Given the description of an element on the screen output the (x, y) to click on. 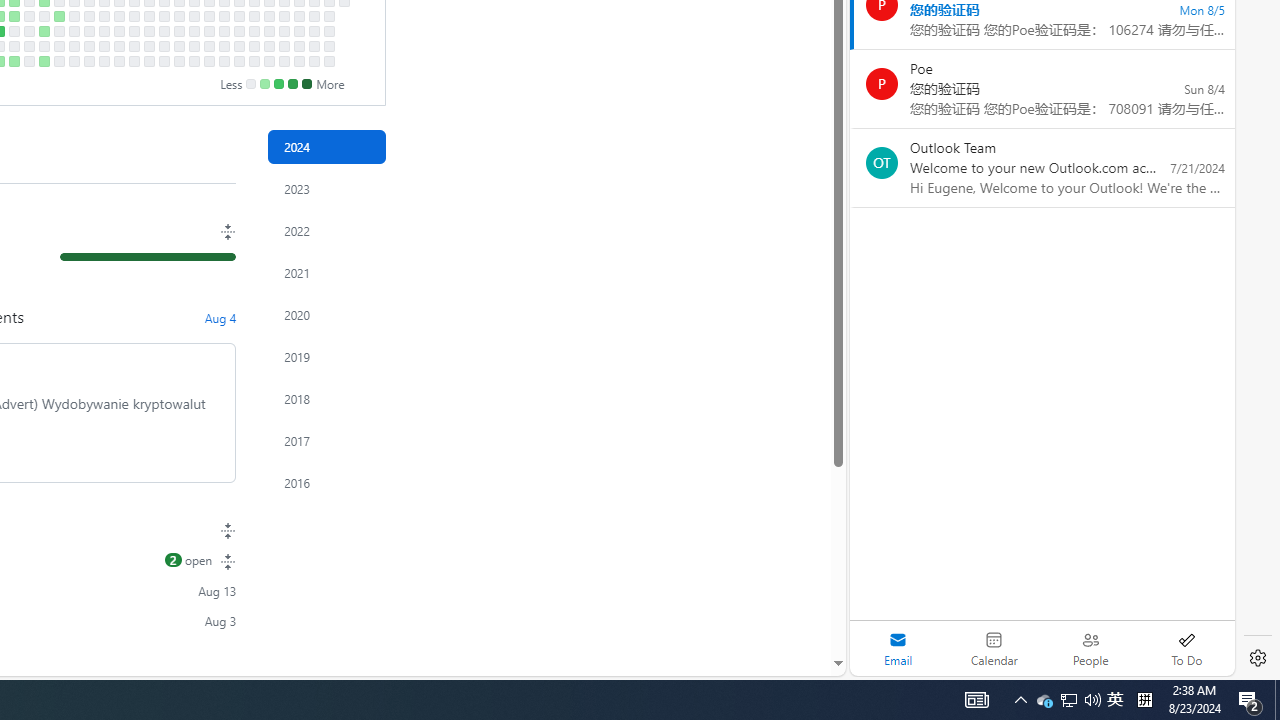
Contribution activity in 2019 (326, 356)
1 contribution on August 21st. (58, 16)
No contributions on September 27th. (133, 46)
No contributions on August 31st. (73, 61)
1 contribution on August 3rd. (13, 61)
No contributions on December 18th. (314, 16)
No contributions on October 3rd. (148, 30)
No contributions on August 7th. (28, 16)
No contributions on November 14th. (238, 30)
No contributions on September 25th. (133, 16)
2020 (326, 314)
No contributions on August 28th. (73, 16)
No contributions on November 28th. (268, 30)
No contributions on October 18th. (178, 46)
